Given the description of an element on the screen output the (x, y) to click on. 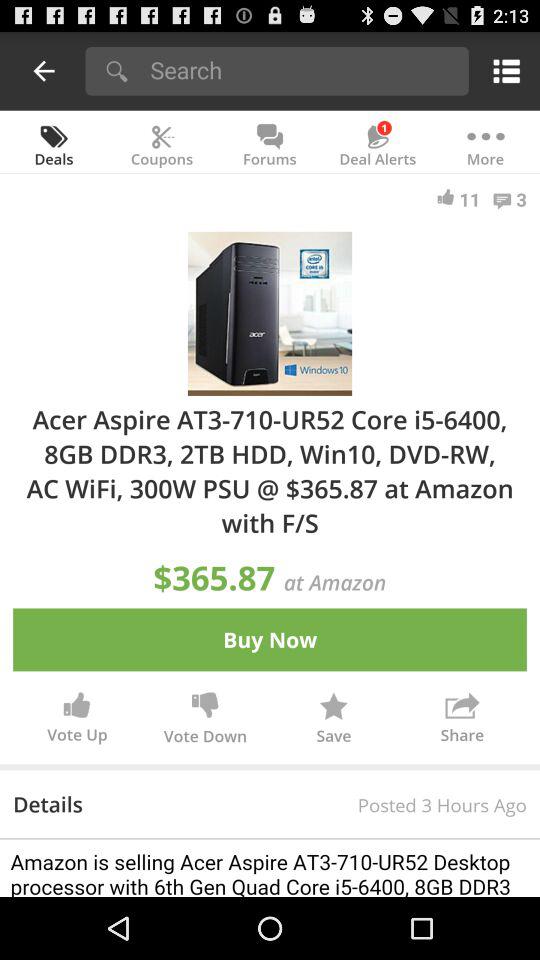
open icon to the right of vote up (205, 721)
